Given the description of an element on the screen output the (x, y) to click on. 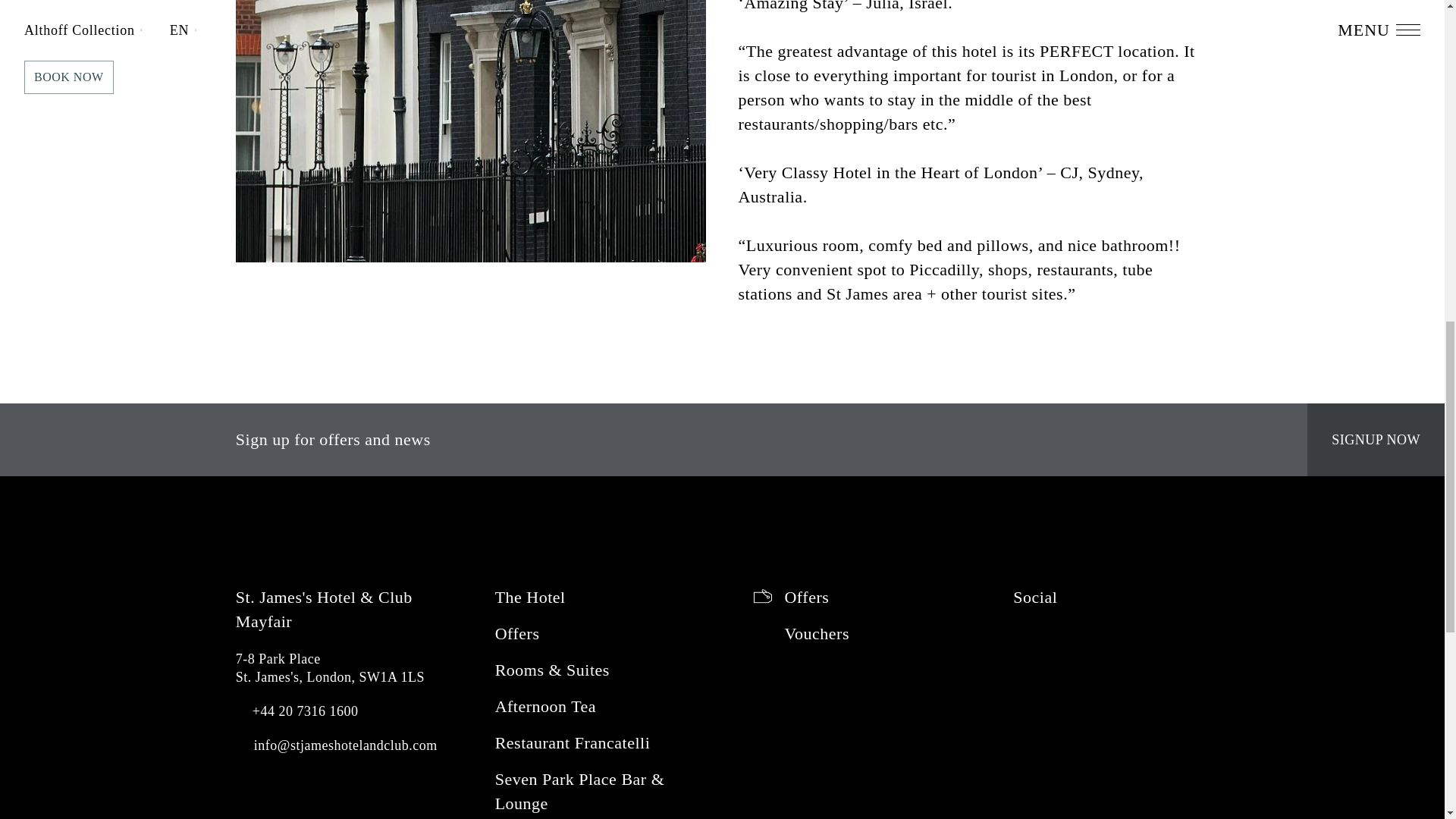
The Hotel (600, 600)
Offers (600, 633)
